Given the description of an element on the screen output the (x, y) to click on. 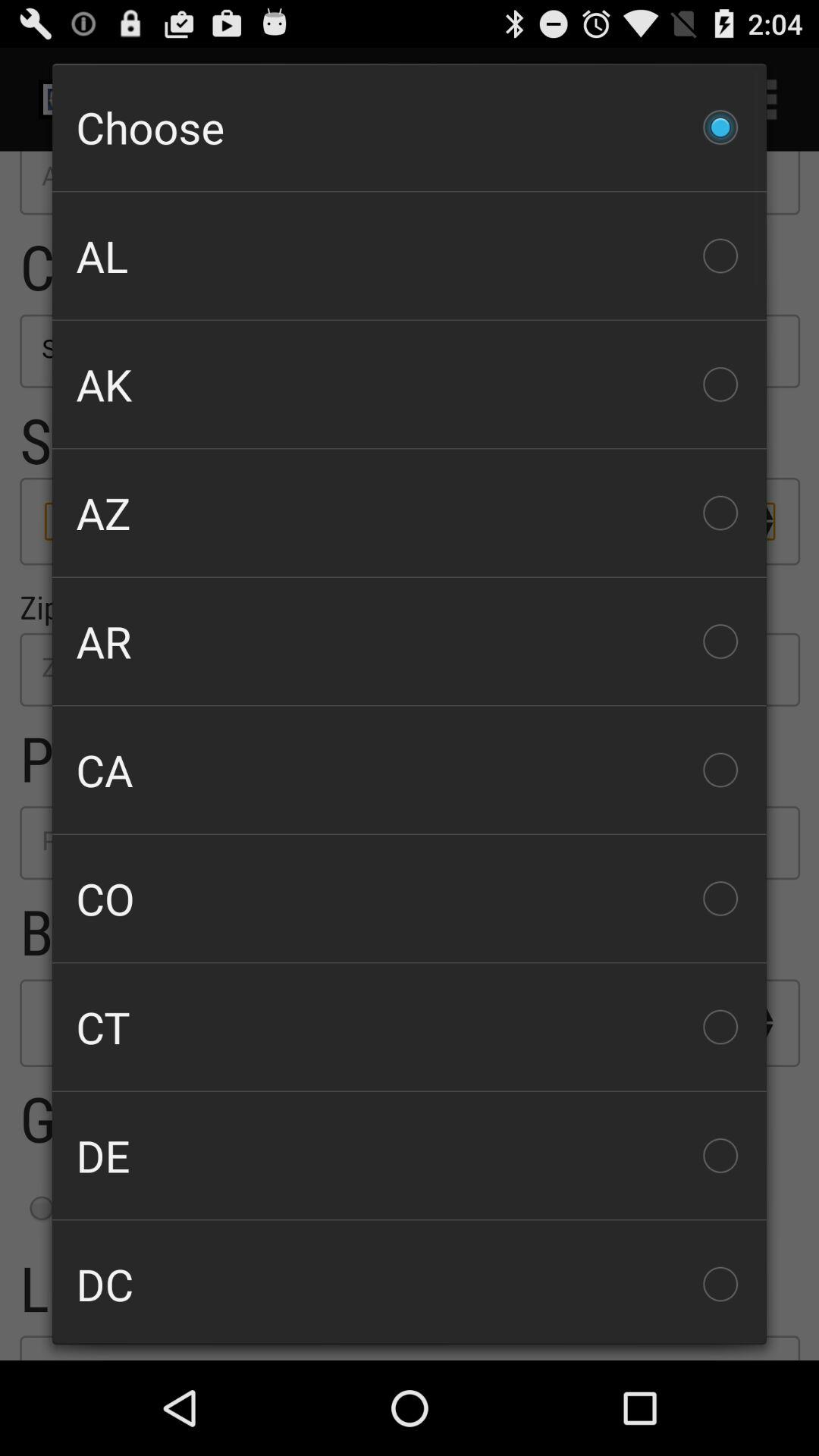
tap icon above al item (409, 127)
